Given the description of an element on the screen output the (x, y) to click on. 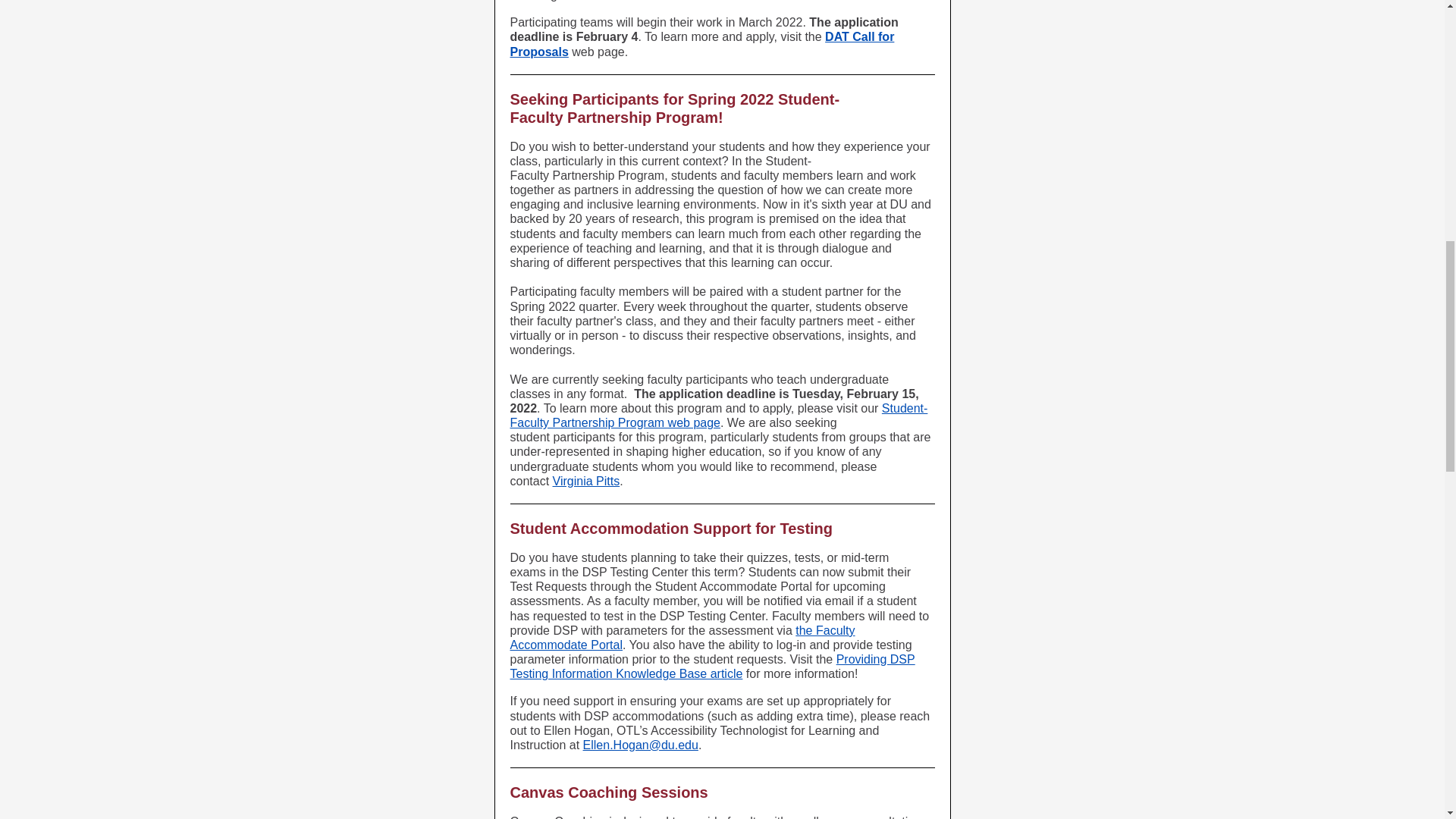
Virginia Pitts (586, 481)
Providing DSP Testing Information Knowledge Base article (711, 666)
Student-Faculty Partnership Program web page (718, 415)
DAT Call for Proposals (701, 43)
the Faculty Accommodate Portal (681, 637)
